Given the description of an element on the screen output the (x, y) to click on. 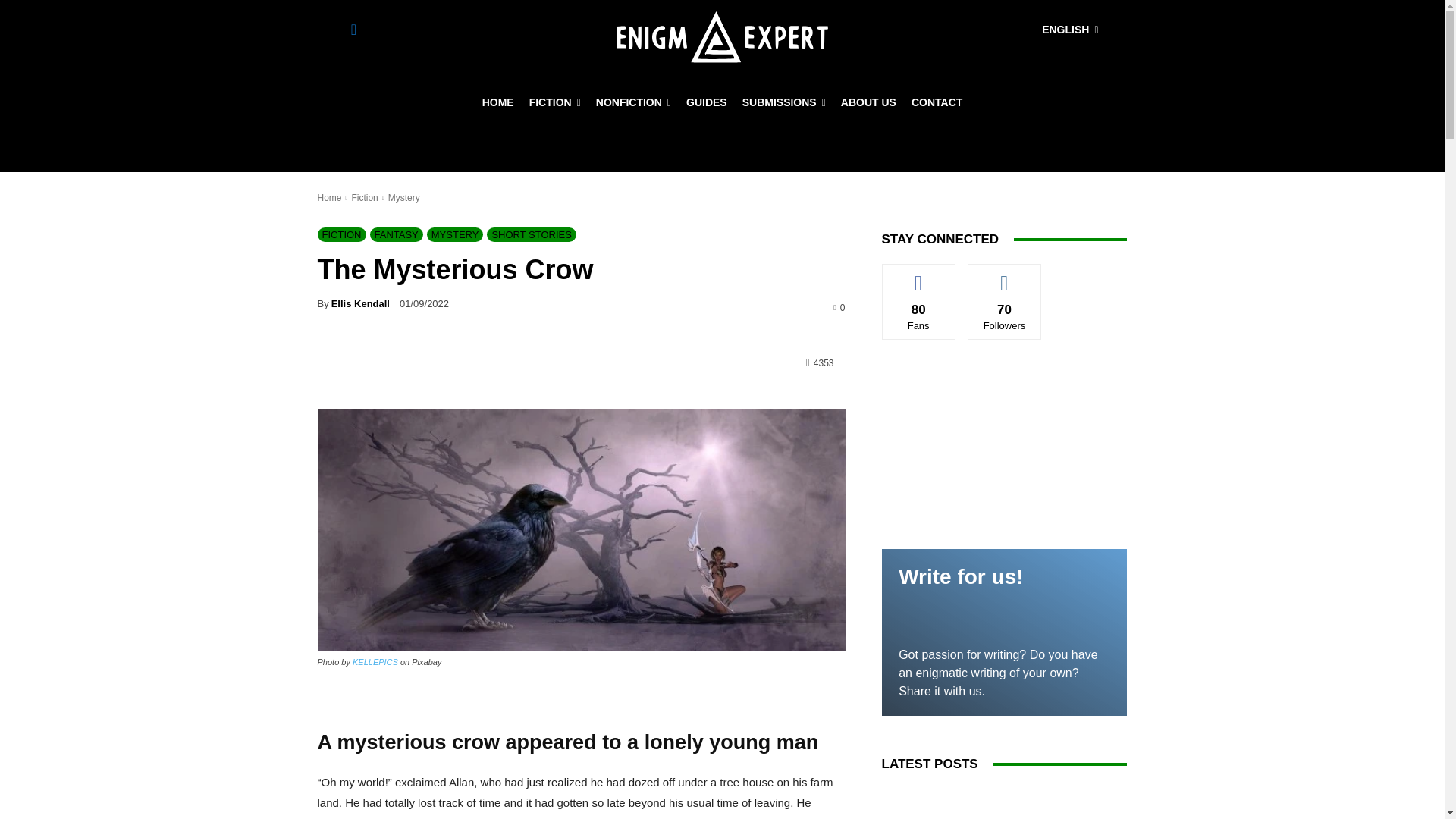
View all posts in Mystery (404, 197)
Nonfictional Stories (633, 102)
Contact Us (936, 102)
Enigma Expert (721, 37)
Mysterious Crow-Woman (580, 529)
View all posts in Fiction (363, 197)
